Given the description of an element on the screen output the (x, y) to click on. 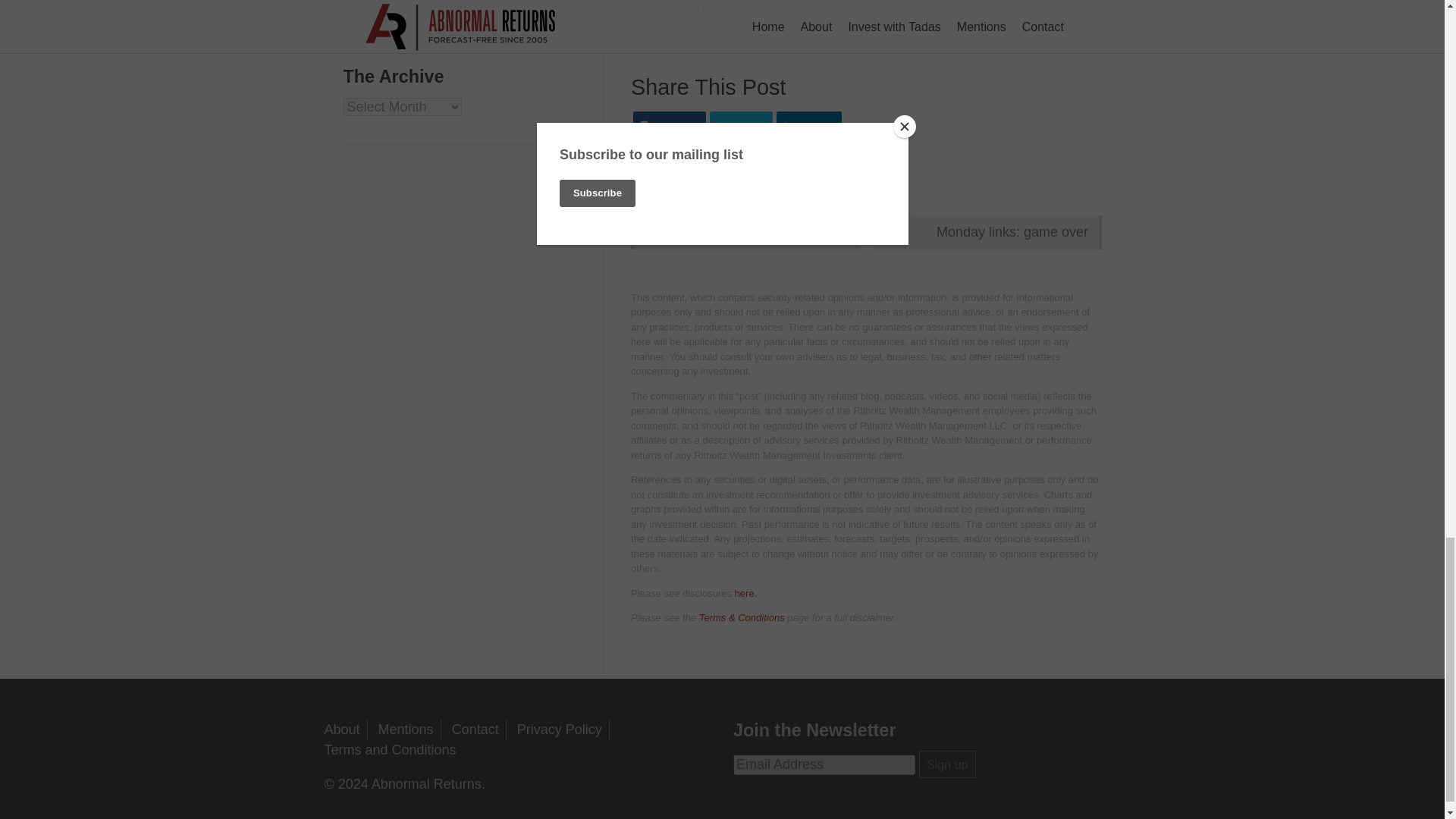
Sign up (946, 764)
Terms and Conditions (390, 749)
Sign up (946, 764)
here. (746, 593)
Mentions (405, 729)
Monday links: game over (987, 232)
Search (369, 5)
Search (369, 5)
FACEBOOK (669, 124)
Sunday links: ETF explosion (745, 232)
Contact (475, 729)
LINKEDIN (808, 124)
Privacy Policy (559, 729)
TWITTER (741, 124)
About (341, 729)
